Given the description of an element on the screen output the (x, y) to click on. 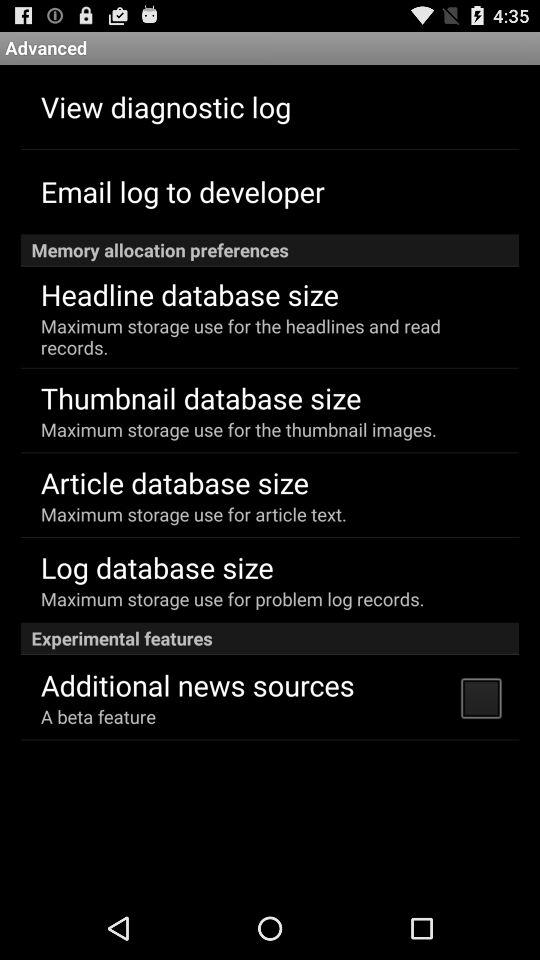
turn on the icon at the bottom right corner (480, 697)
